Given the description of an element on the screen output the (x, y) to click on. 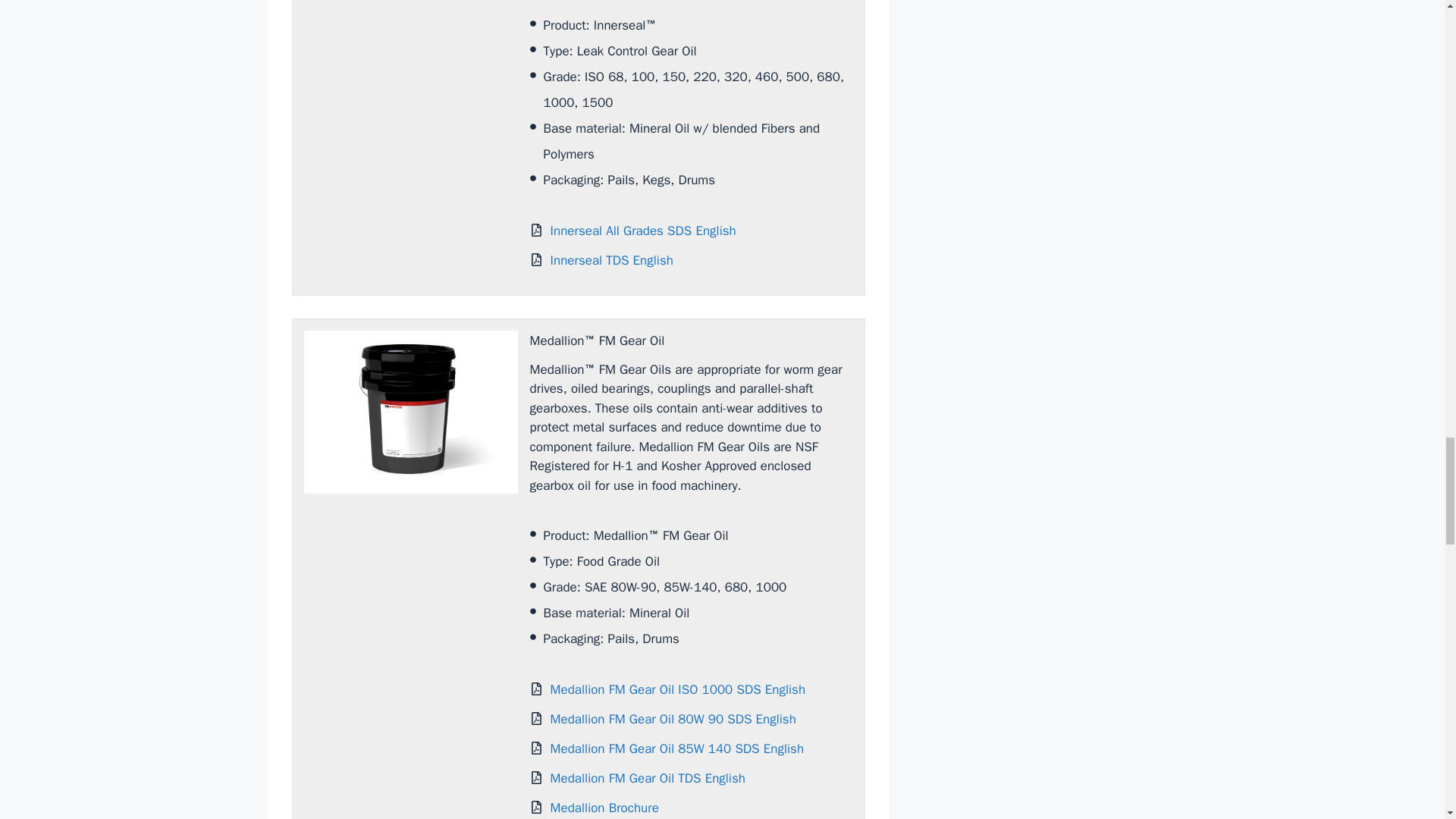
Whitmore Medallion FM Gear Oils (409, 412)
